Given the description of an element on the screen output the (x, y) to click on. 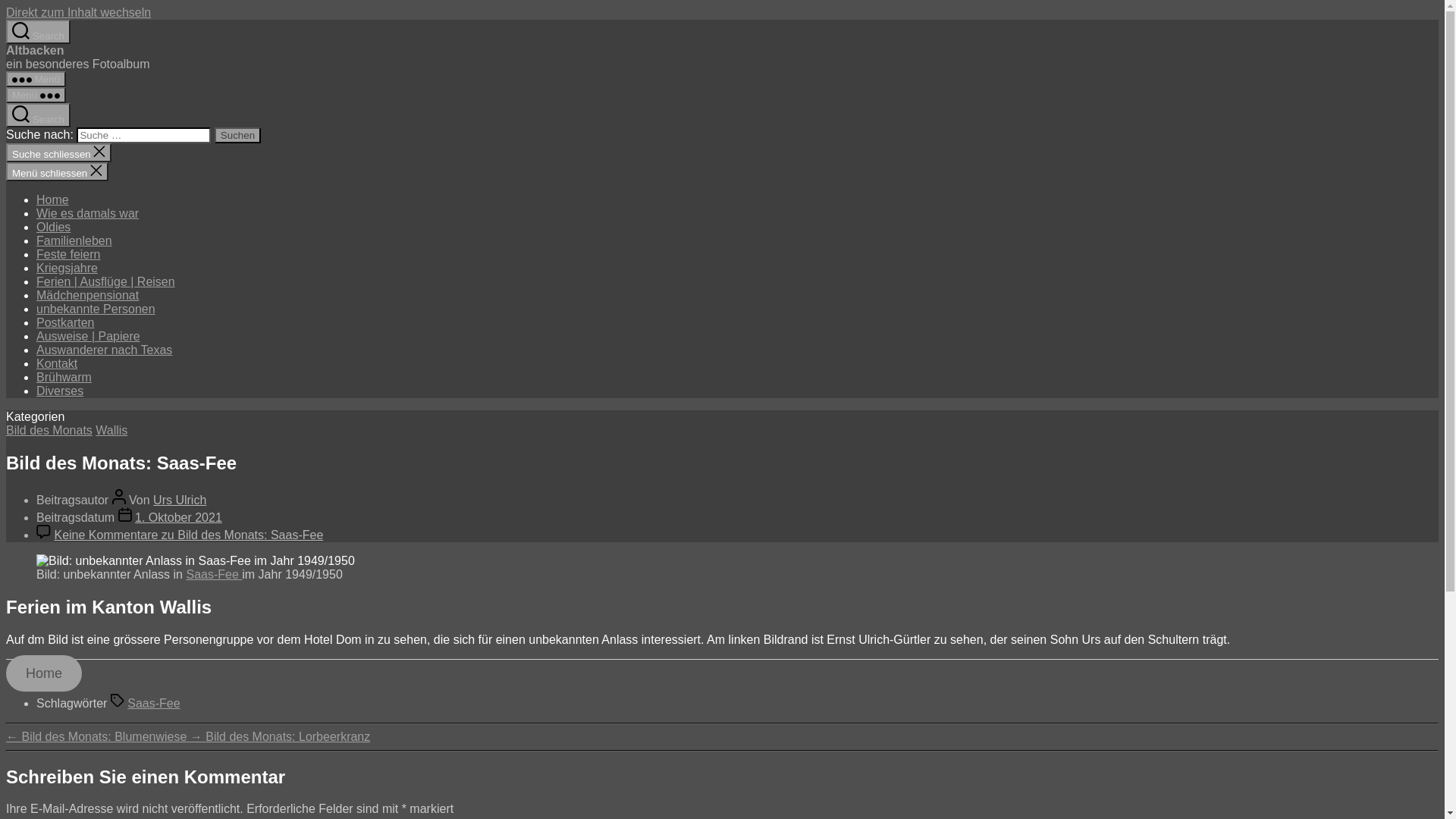
Suchen Element type: text (237, 135)
Familienleben Element type: text (74, 240)
Kriegsjahre Element type: text (66, 267)
Diverses Element type: text (59, 390)
Kontakt Element type: text (56, 363)
unbekannte Personen Element type: text (95, 308)
Feste feiern Element type: text (68, 253)
Bild des Monats Element type: text (49, 429)
Auswanderer nach Texas Element type: text (104, 349)
Wallis Element type: text (111, 429)
Oldies Element type: text (53, 226)
Search Element type: text (38, 31)
Bild des Monats: Saas-Fee 1 Element type: hover (195, 560)
Home Element type: text (43, 673)
Postkarten Element type: text (65, 322)
Ausweise | Papiere Element type: text (88, 335)
Home Element type: text (52, 199)
Saas-Fee Element type: text (153, 702)
Saas-Fee Element type: text (213, 573)
1. Oktober 2021 Element type: text (178, 517)
Altbacken Element type: text (34, 49)
Suche schliessen Element type: text (58, 152)
Keine Kommentare zu Bild des Monats: Saas-Fee Element type: text (188, 534)
Search Element type: text (38, 115)
Wie es damals war Element type: text (87, 213)
Urs Ulrich Element type: text (179, 499)
Direkt zum Inhalt wechseln Element type: text (78, 12)
